Given the description of an element on the screen output the (x, y) to click on. 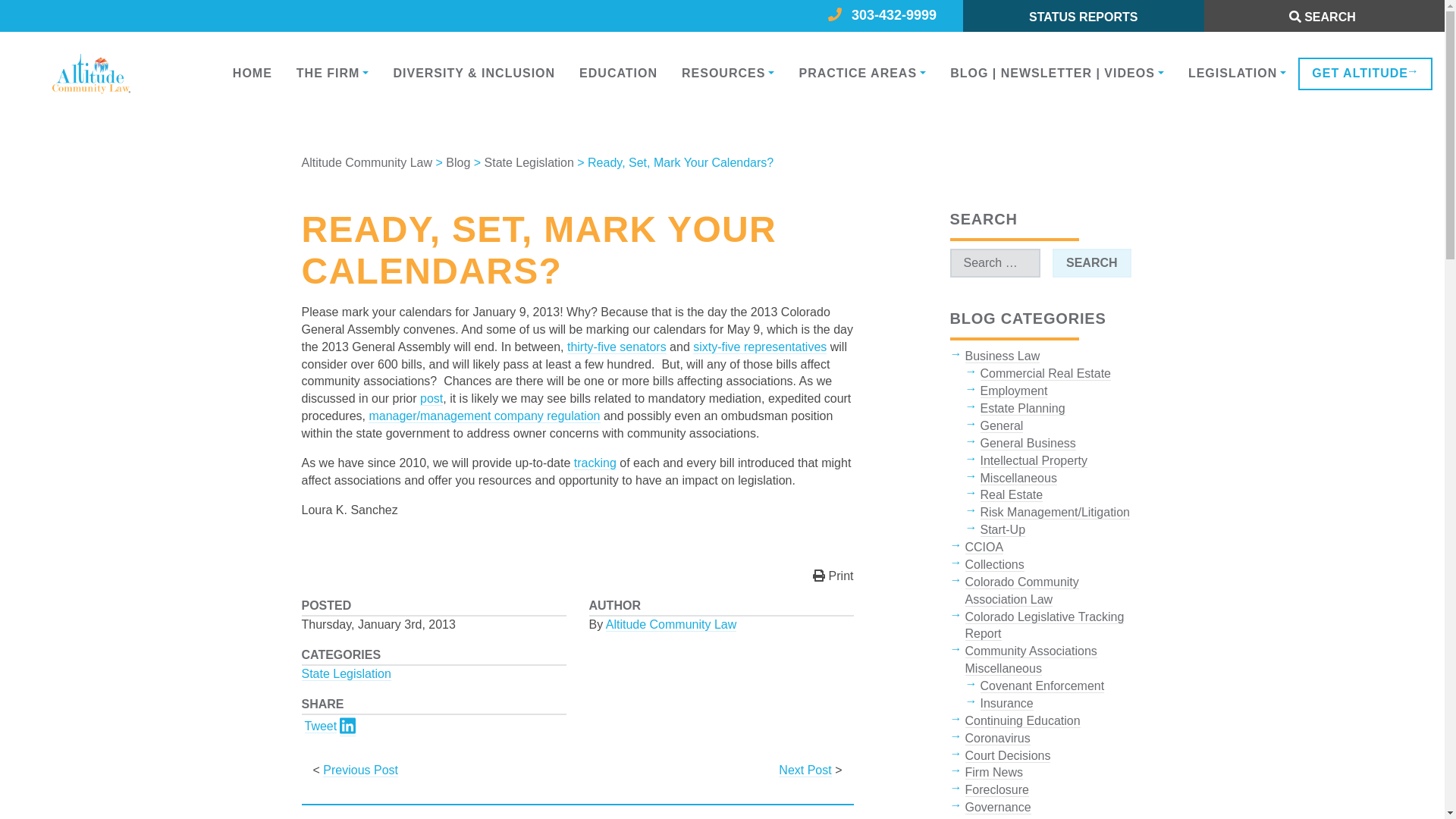
Tweet (320, 726)
Practice Areas (861, 73)
thirty-five senators (616, 346)
STATUS REPORTS (1083, 17)
Education (618, 73)
THE FIRM (332, 73)
RESOURCES (727, 73)
Home (252, 73)
The Firm (332, 73)
LEGISLATION (1237, 73)
303-432-9999 (901, 15)
Blog (457, 162)
PRACTICE AREAS (861, 73)
HOME (252, 73)
Resources (727, 73)
